Given the description of an element on the screen output the (x, y) to click on. 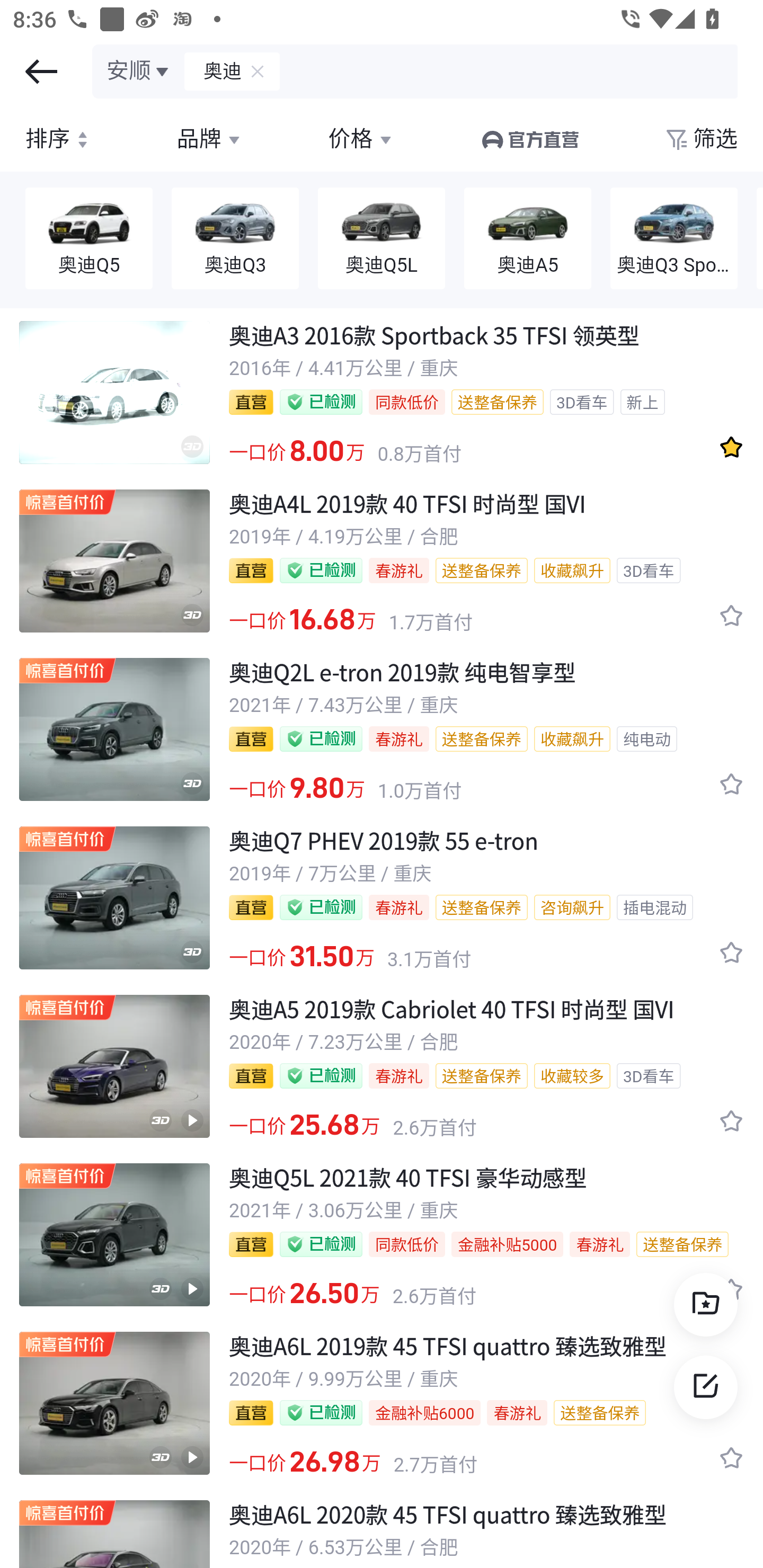
安顺 (139, 70)
奥迪 (213, 70)
排序 (59, 139)
品牌 (210, 139)
价格 (361, 139)
官方直营 (528, 139)
筛选 (700, 139)
奥迪Q5 (88, 239)
奥迪Q3 (235, 239)
奥迪Q5L (381, 239)
奥迪A5 (527, 239)
奥迪Q3 Sportback (673, 239)
